Given the description of an element on the screen output the (x, y) to click on. 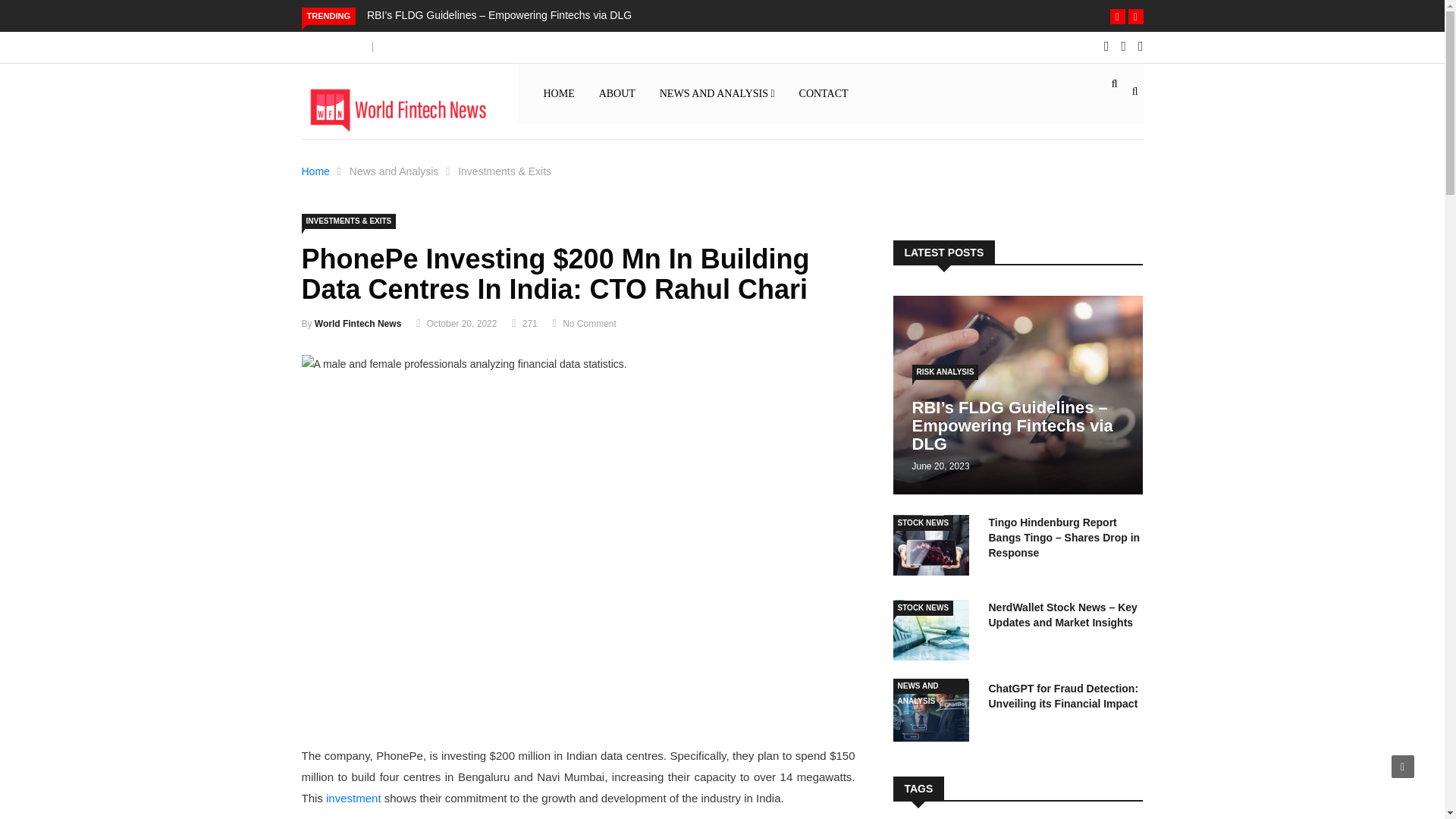
logo (398, 107)
CONTACT (824, 93)
News and Analysis (394, 171)
No Comment (588, 323)
Home (315, 171)
World Fintech News (357, 323)
investment (353, 797)
ABOUT (617, 93)
NEWS AND ANALYSIS (717, 93)
